Given the description of an element on the screen output the (x, y) to click on. 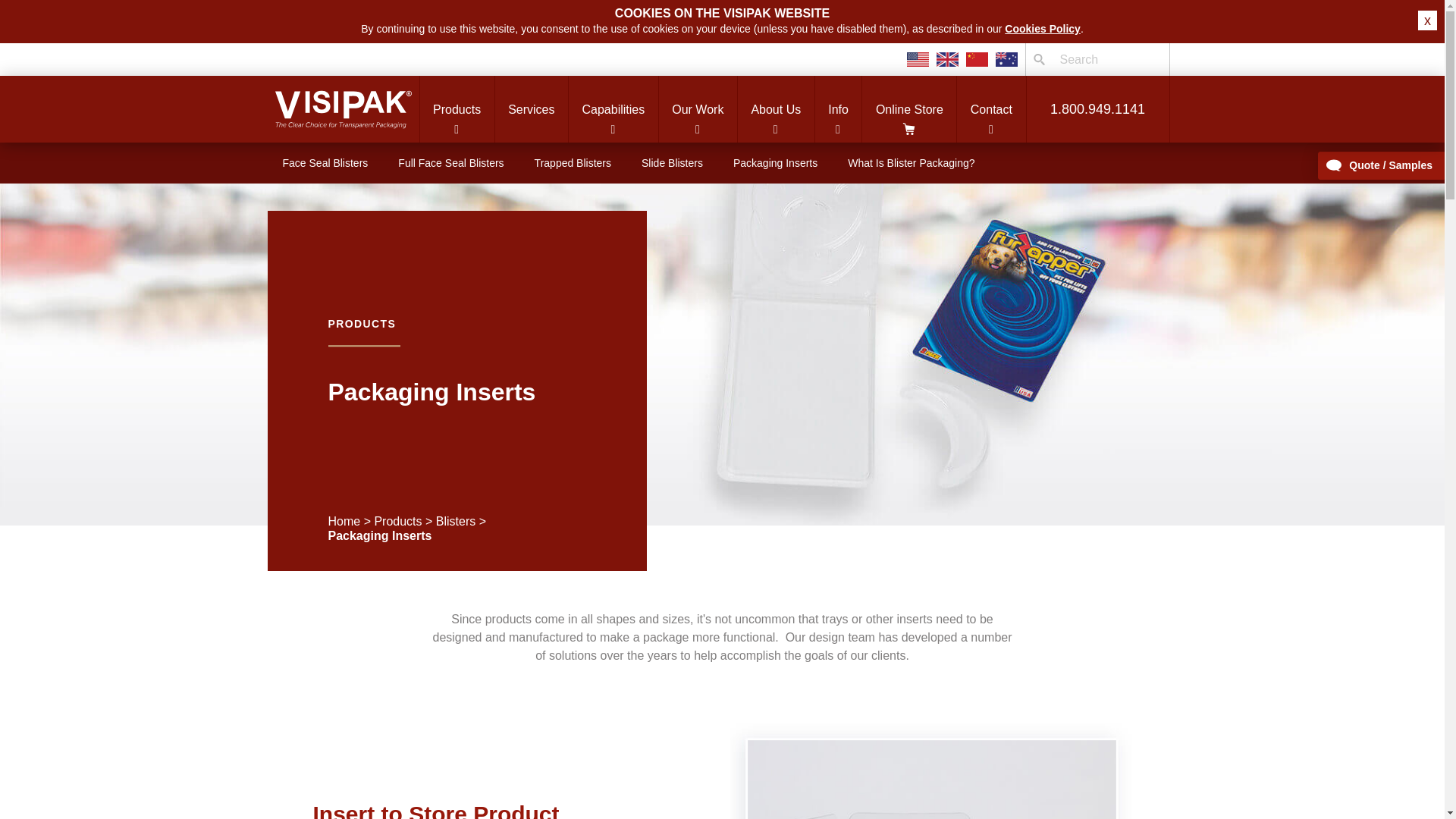
VisiPak - US (917, 59)
Products (456, 109)
StockCap - Australia (1005, 59)
blister packaging inserts (930, 770)
